Given the description of an element on the screen output the (x, y) to click on. 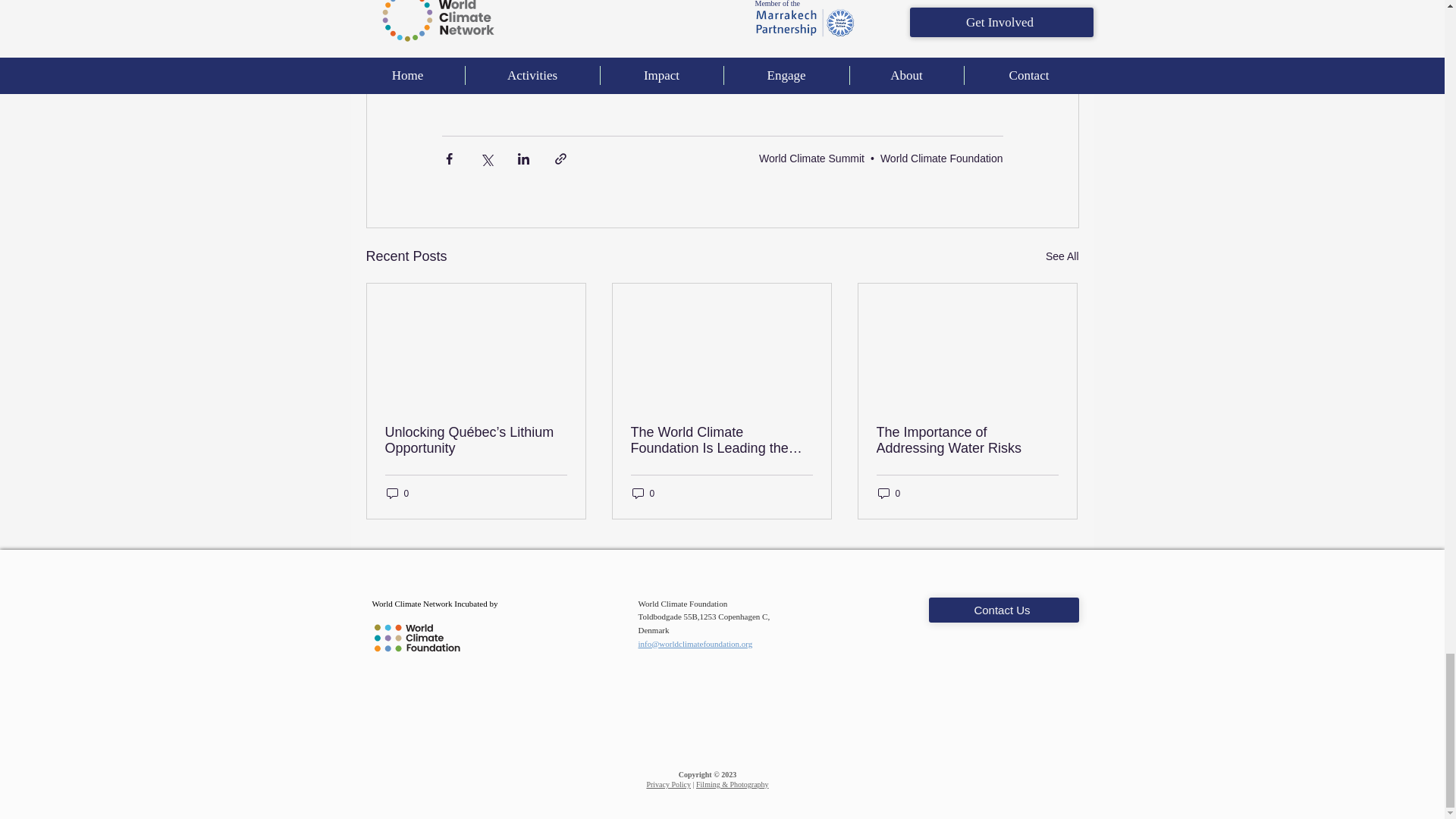
0 (643, 493)
Explore World Climate Summit (721, 51)
See All (1061, 256)
0 (397, 493)
World Climate Summit (811, 158)
World Climate Foundation (941, 158)
0 (889, 493)
The Importance of Addressing Water Risks (967, 440)
